Given the description of an element on the screen output the (x, y) to click on. 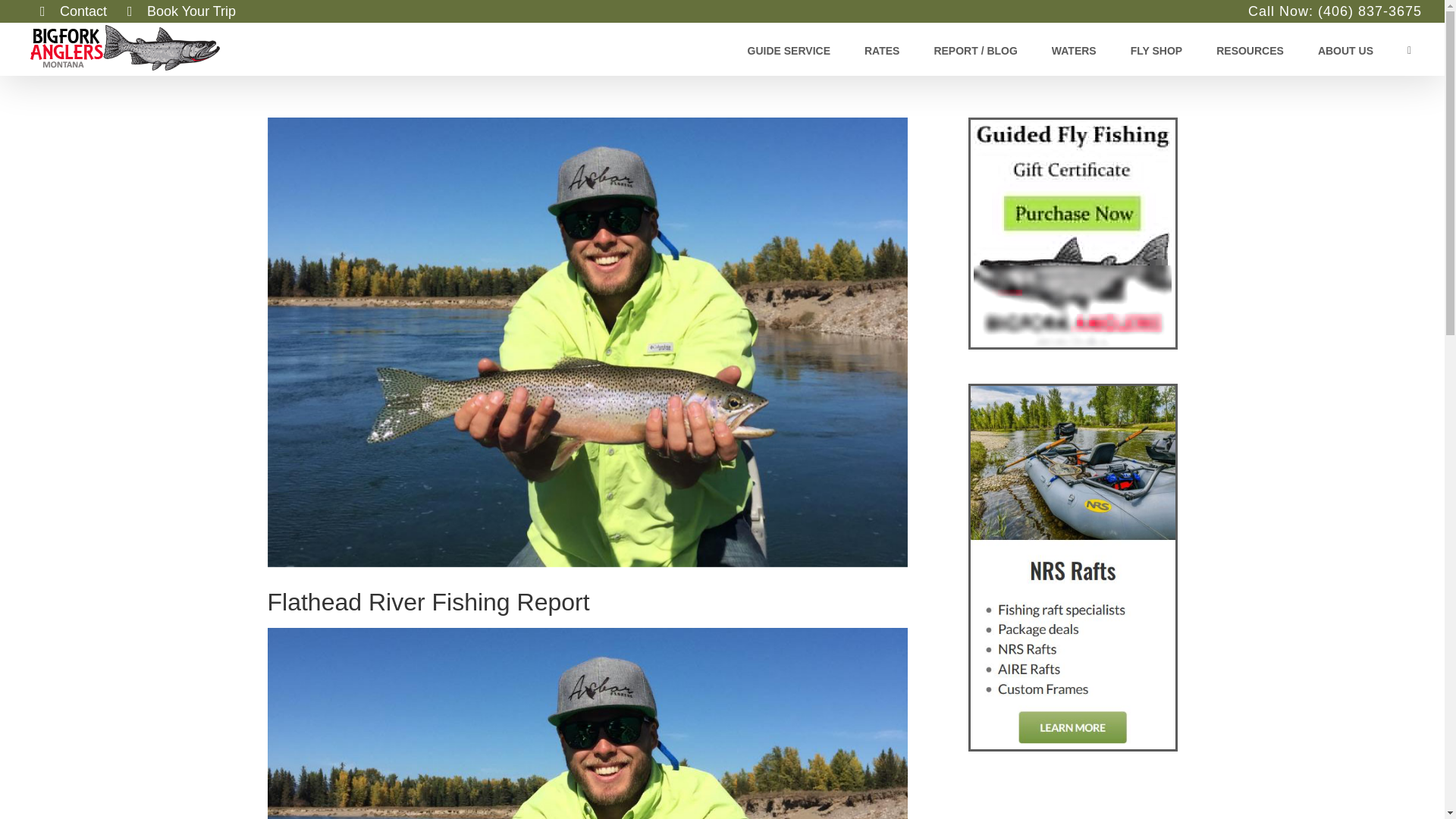
RESOURCES (1249, 49)
Contact (73, 11)
FLY SHOP (1156, 49)
Call Now: (1282, 11)
Book Your Trip (181, 11)
ABOUT US (1345, 49)
GUIDE SERVICE (788, 49)
